Given the description of an element on the screen output the (x, y) to click on. 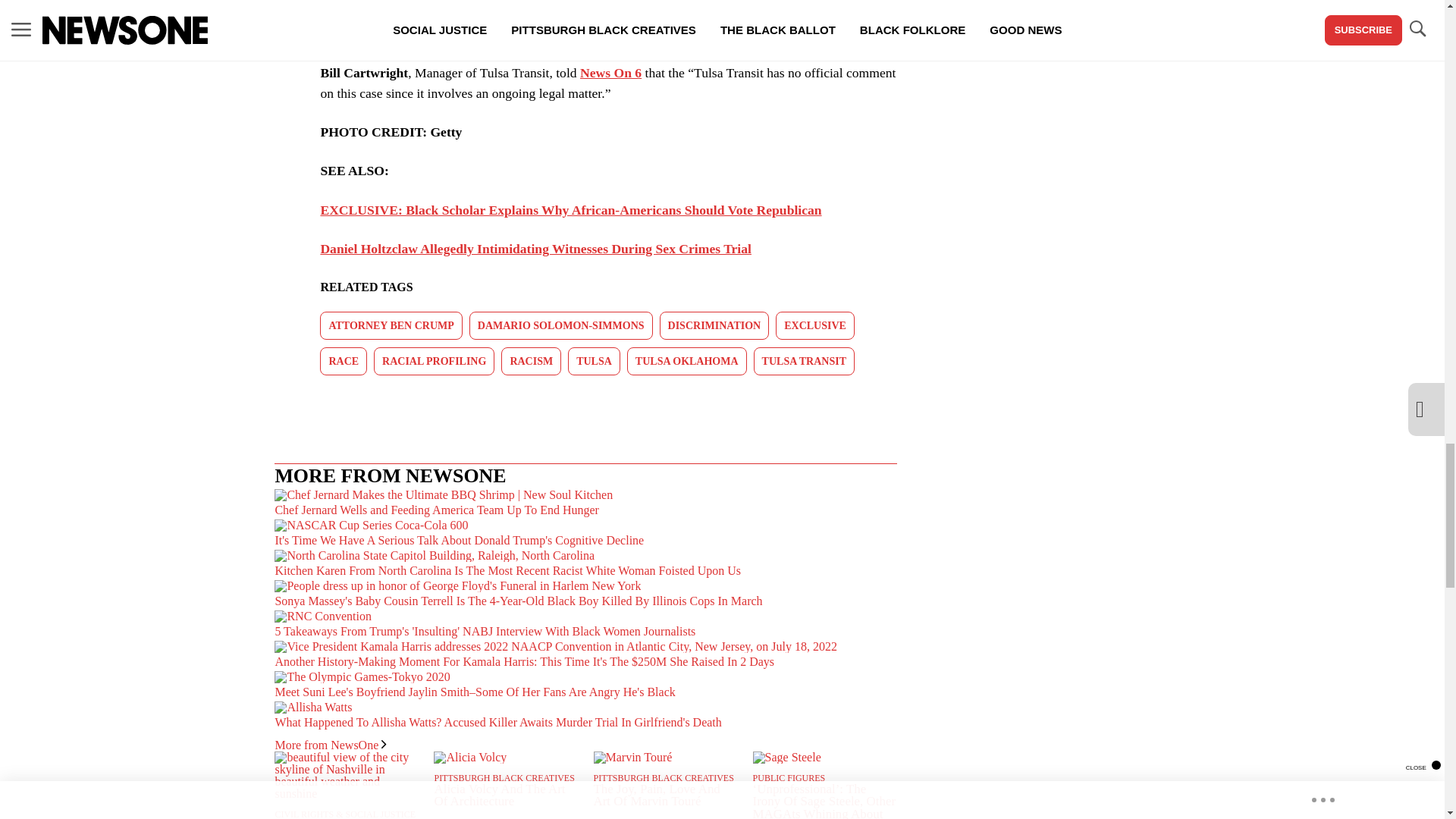
RACISM (530, 361)
TULSA TRANSIT (804, 361)
TULSA (593, 361)
News On 6 (610, 72)
RACIAL PROFILING (434, 361)
EXCLUSIVE (815, 325)
RACE (343, 361)
Chef Jernard Wells and Feeding America Team Up To End Hunger (585, 503)
DISCRIMINATION (714, 325)
DAMARIO SOLOMON-SIMMONS (560, 325)
ATTORNEY BEN CRUMP (390, 325)
TULSA OKLAHOMA (686, 361)
